Given the description of an element on the screen output the (x, y) to click on. 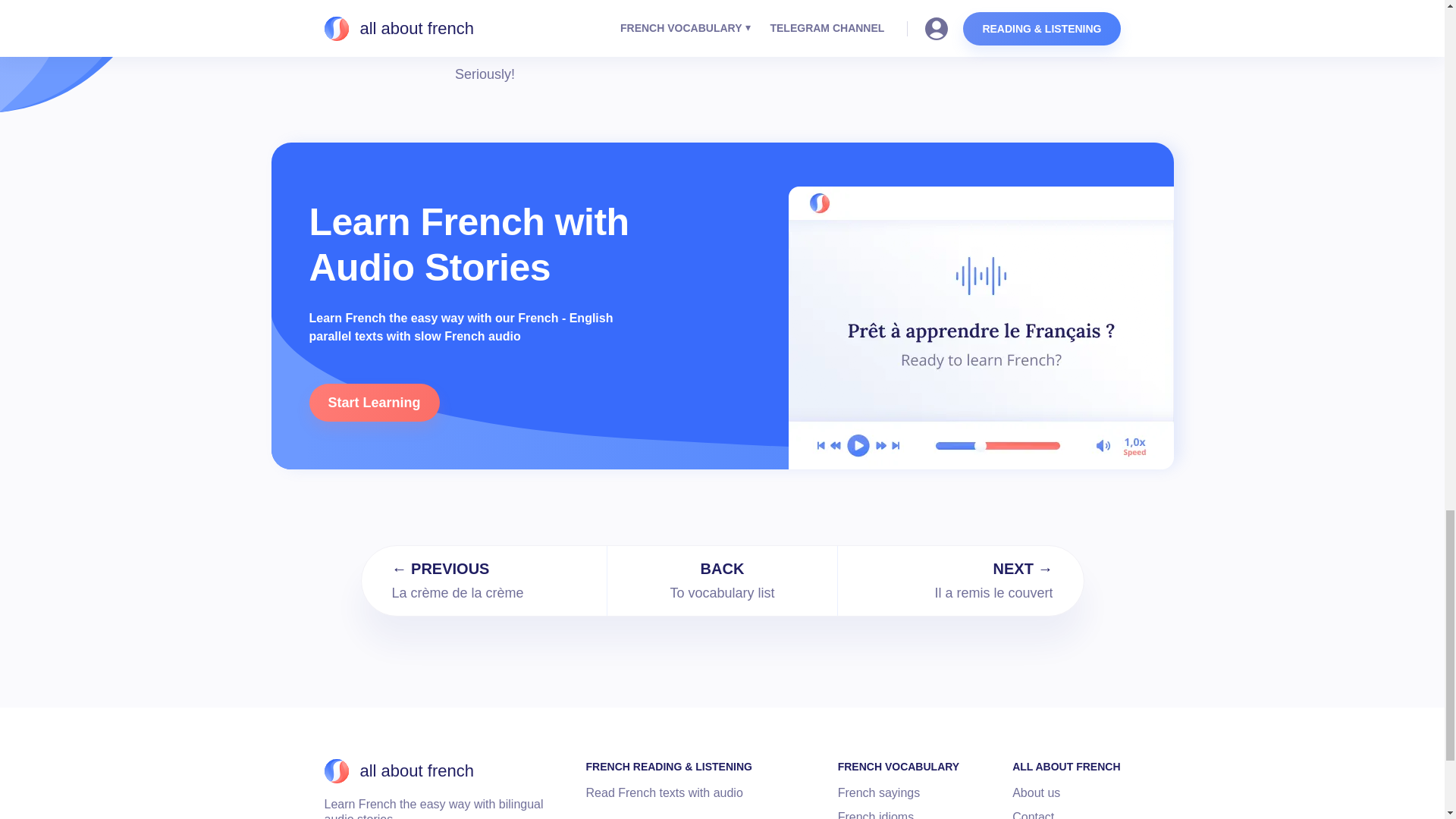
FRENCH VOCABULARY (722, 580)
ALL ABOUT FRENCH (898, 766)
French sayings (1065, 766)
Contact (879, 792)
Read French texts with audio (1032, 814)
French idioms (664, 792)
all about french (876, 814)
About us (399, 770)
Start Learning (1035, 792)
